Given the description of an element on the screen output the (x, y) to click on. 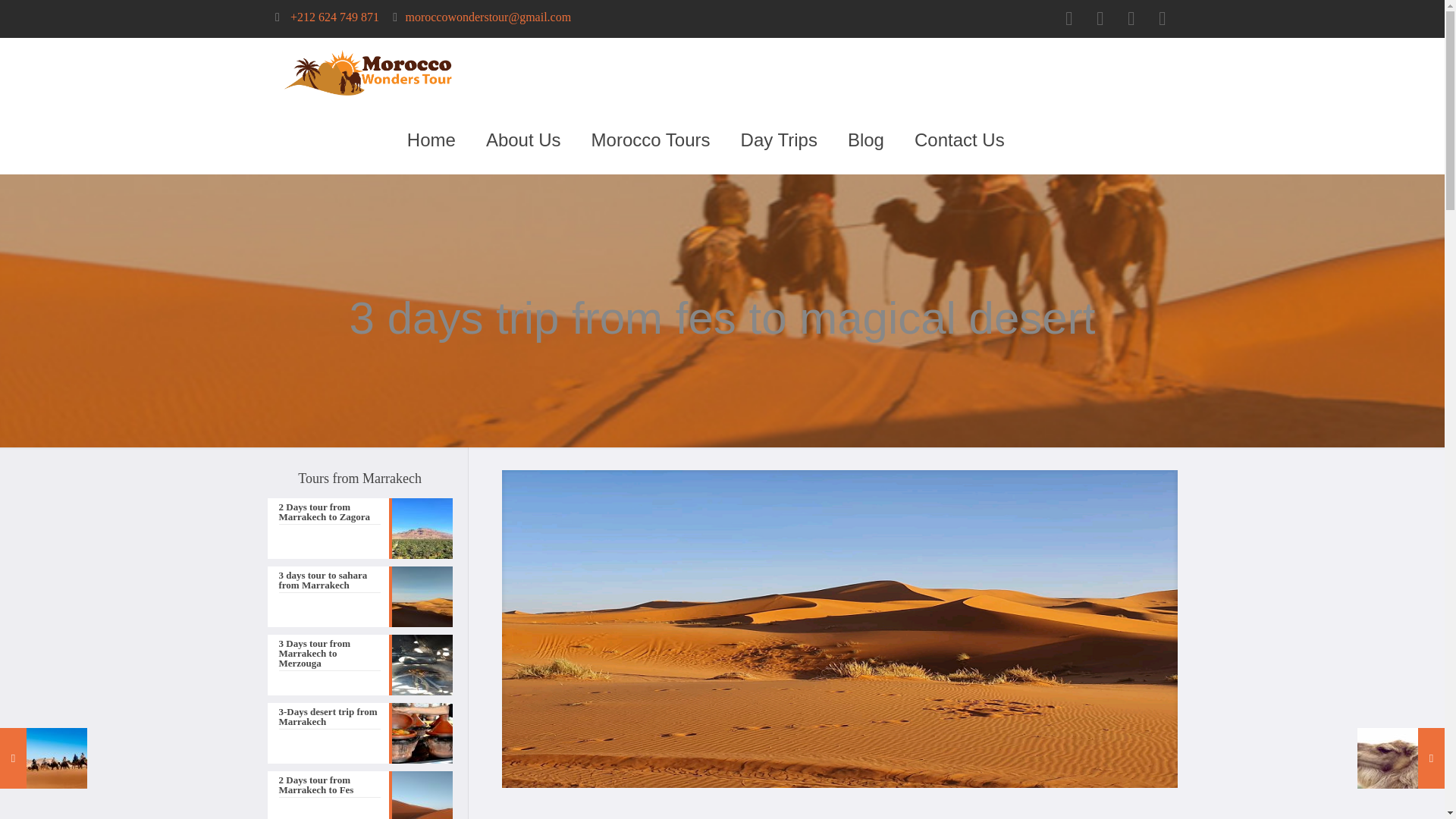
Morocco Tours (650, 140)
Day Trips (778, 140)
TripAdvisor (1161, 21)
Morocco Wonders Tour (367, 71)
Instagram (1131, 21)
Facebook (1068, 21)
Contact Us (959, 140)
Twitter (1099, 21)
Blog (865, 140)
About Us (523, 140)
Home (430, 140)
